Given the description of an element on the screen output the (x, y) to click on. 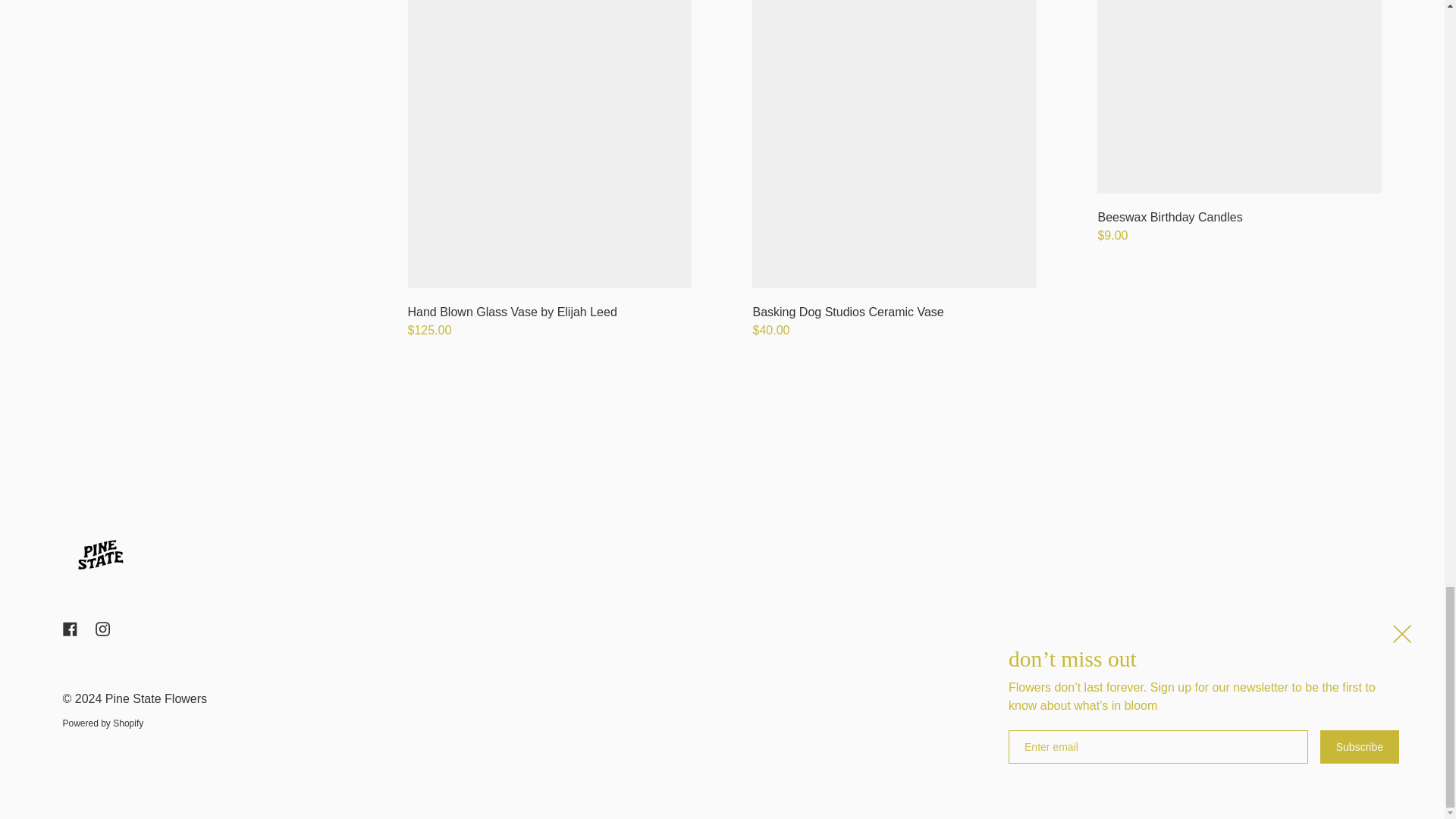
Pine State Flowers on Instagram (102, 628)
Pine State Flowers on Facebook (69, 628)
